Given the description of an element on the screen output the (x, y) to click on. 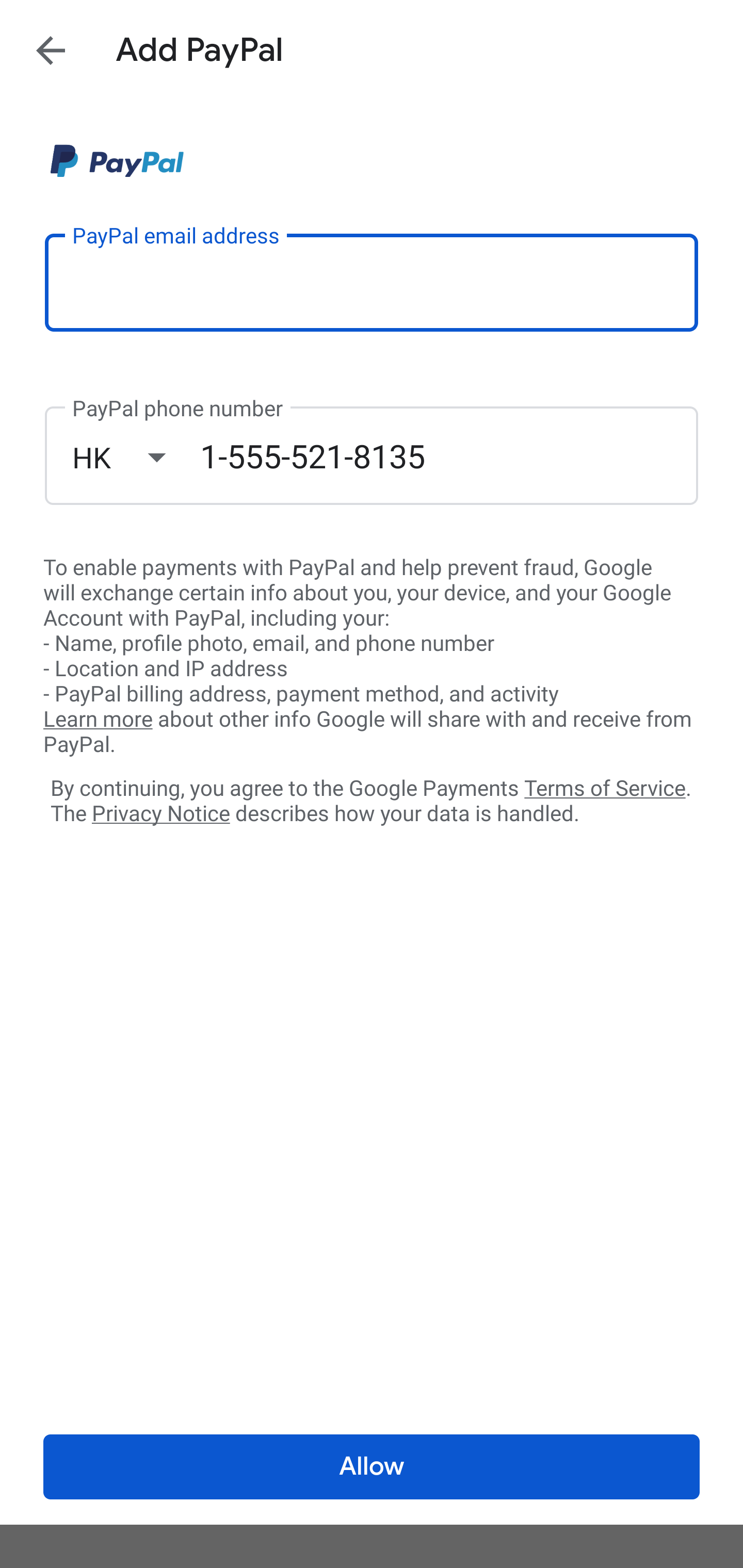
Navigate up (50, 50)
PayPal email address (371, 282)
HK (135, 456)
Learn more (97, 719)
Terms of Service (604, 787)
Privacy Notice (160, 814)
Allow (371, 1466)
